Given the description of an element on the screen output the (x, y) to click on. 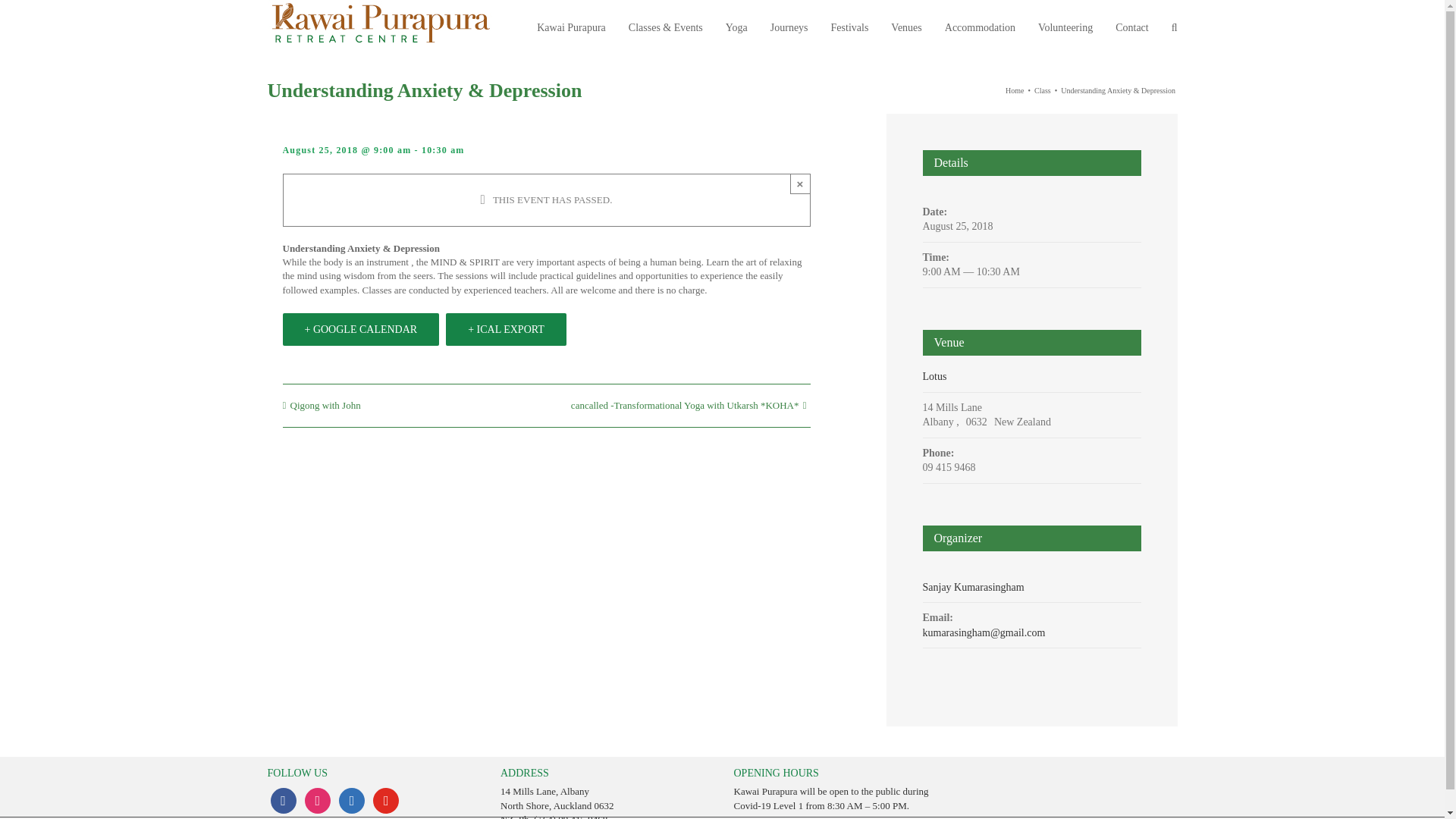
Lotus (933, 376)
Facebook (282, 800)
Sanjay Kumarasingham (972, 586)
Home (1014, 90)
Volunteering (1065, 26)
Kawai Purapura (571, 26)
Accommodation (979, 26)
Qigong with John (324, 405)
Twitter (352, 800)
Download .ics file (505, 328)
